Given the description of an element on the screen output the (x, y) to click on. 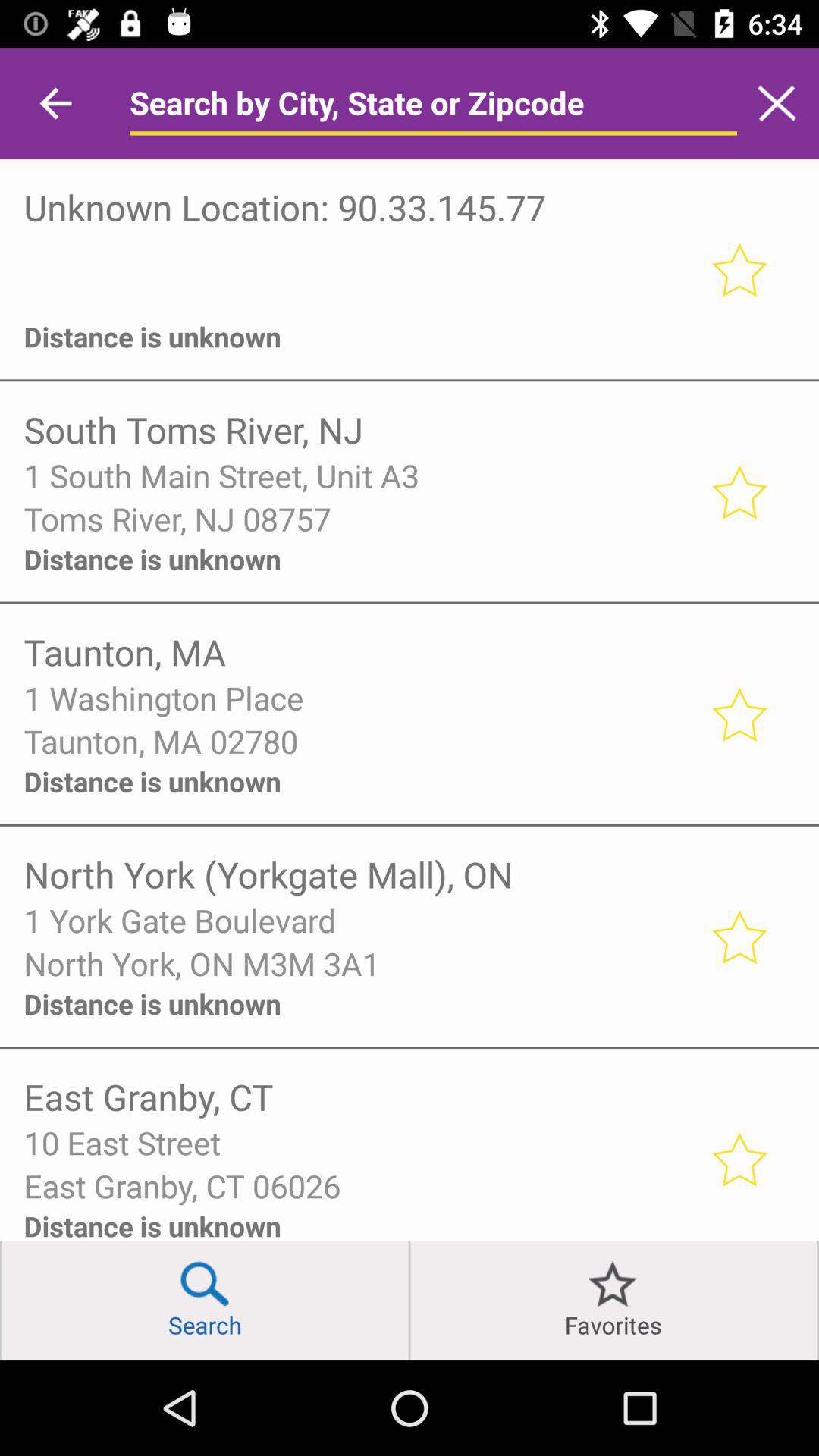
launch the 1 south main item (356, 475)
